Given the description of an element on the screen output the (x, y) to click on. 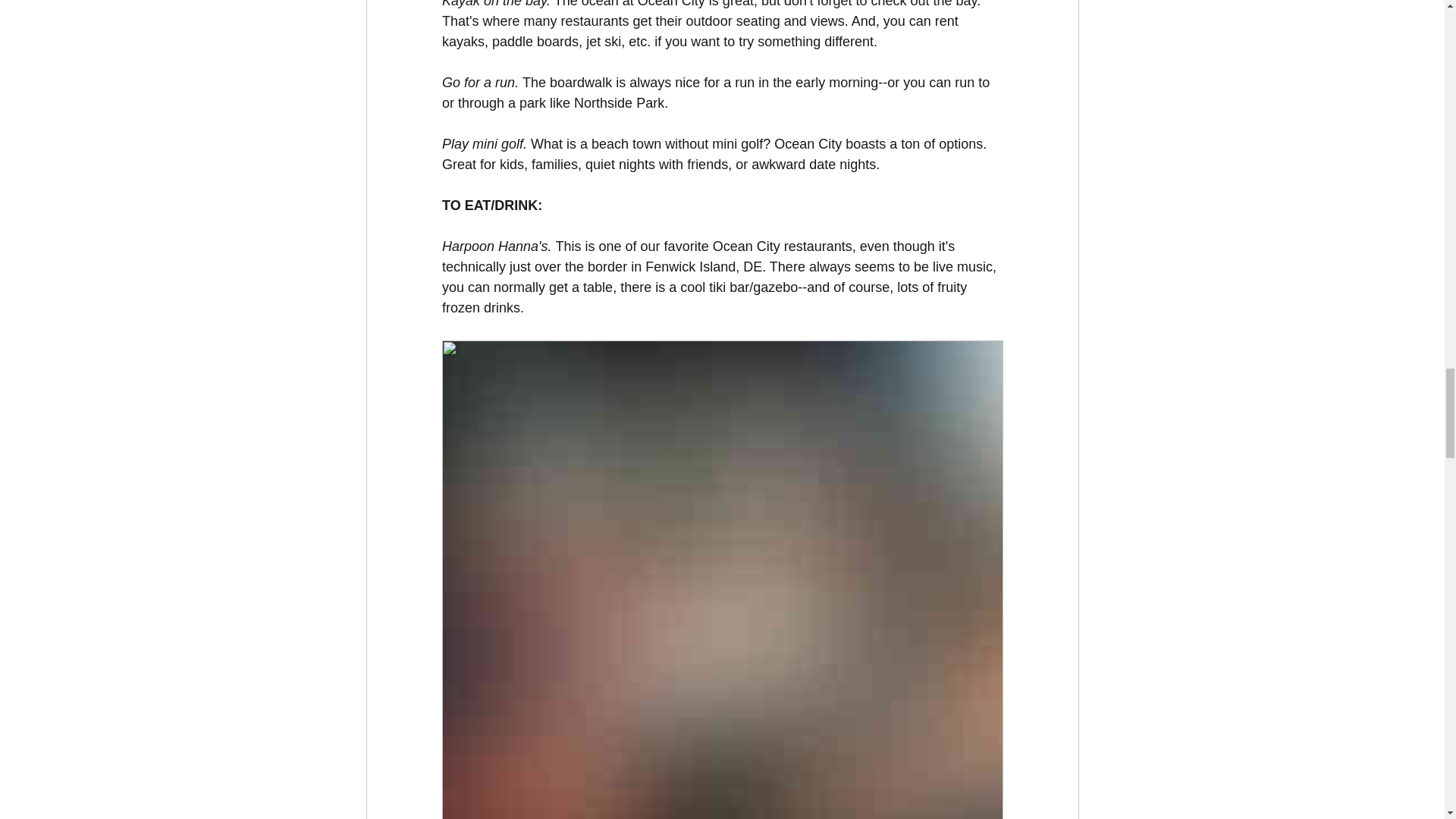
Harpoon Hanna's (494, 246)
rent kayaks (700, 31)
Northside Park (618, 102)
